Given the description of an element on the screen output the (x, y) to click on. 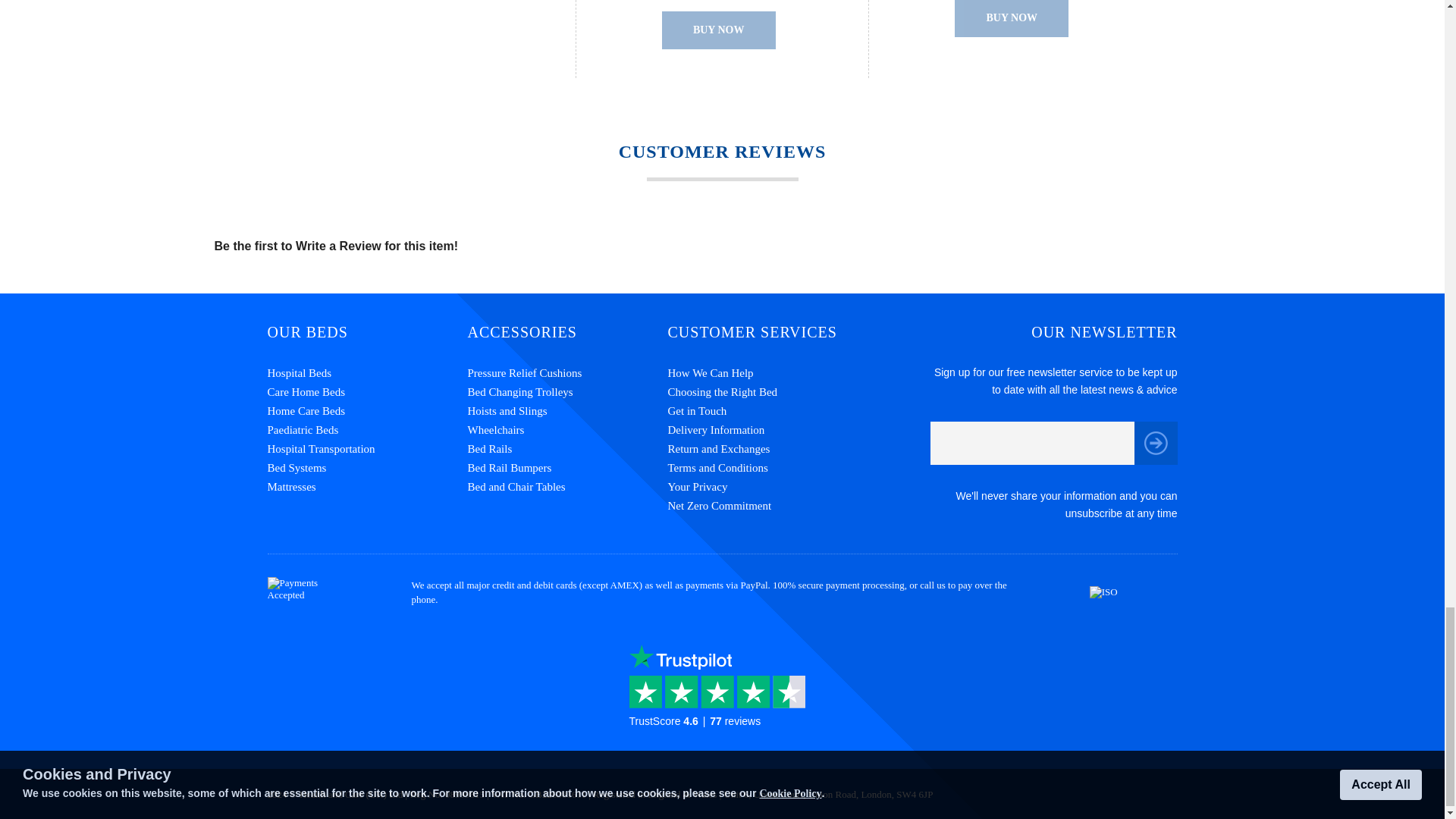
Paediatric Beds (366, 429)
Hospital Beds (366, 373)
Write a Review (338, 245)
BUY NOW (719, 30)
Customer reviews powered by Trustpilot (721, 698)
Home Care Beds (366, 411)
Care Home Beds (366, 392)
BUY NOW (1011, 18)
